Given the description of an element on the screen output the (x, y) to click on. 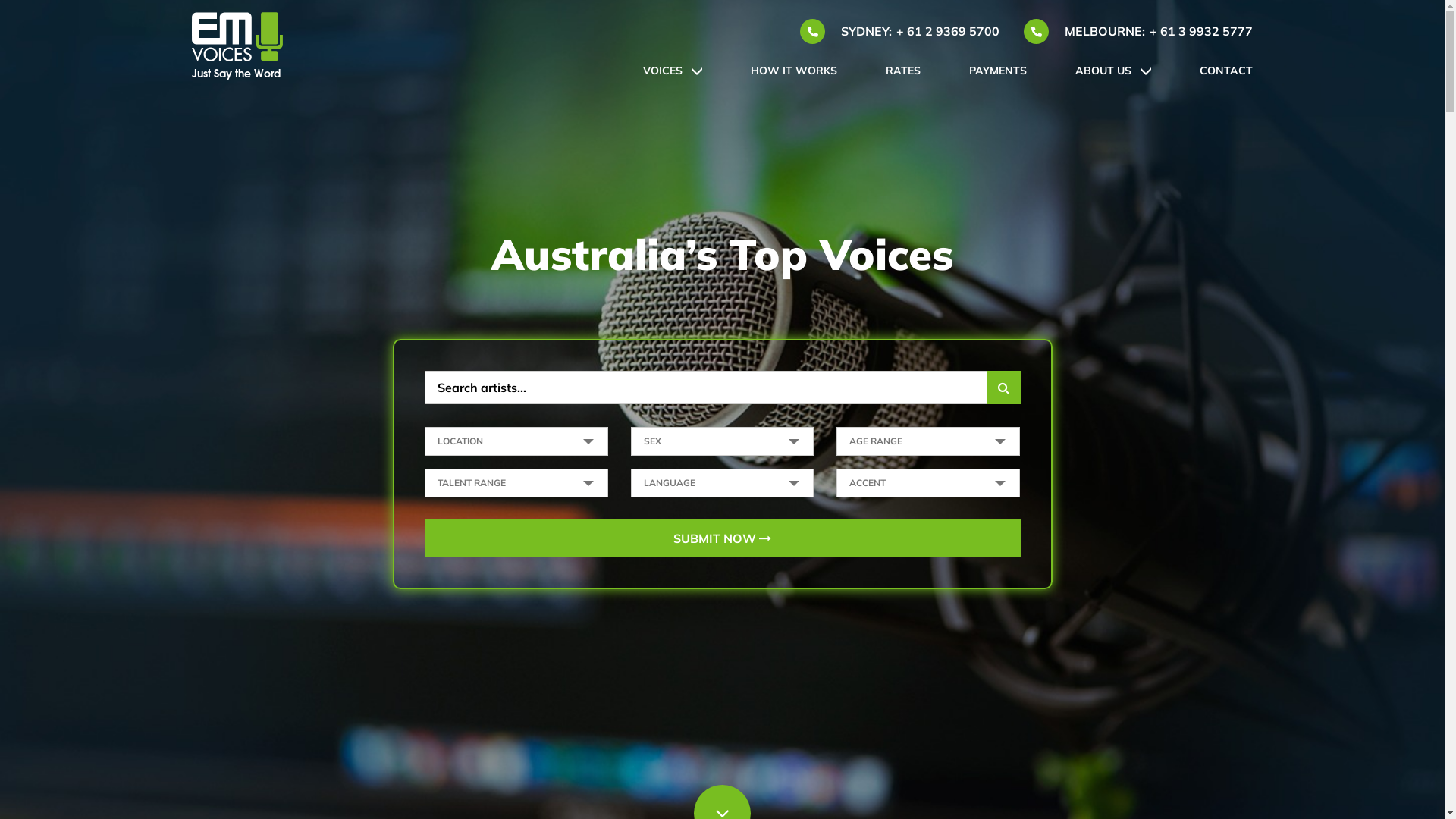
+ 61 3 9932 5777 Element type: text (1200, 30)
PAYMENTS Element type: text (997, 80)
ABOUT US Element type: text (1103, 80)
SUBMIT NOW Element type: text (722, 538)
AGE RANGE Element type: text (927, 440)
TALENT RANGE Element type: text (516, 482)
ACCENT Element type: text (927, 482)
RATES Element type: text (902, 80)
+ 61 2 9369 5700 Element type: text (947, 30)
LOCATION Element type: text (516, 440)
LANGUAGE Element type: text (722, 482)
HOW IT WORKS Element type: text (793, 80)
CONTACT Element type: text (1225, 80)
VOICES Element type: text (662, 80)
SEX Element type: text (722, 440)
